Given the description of an element on the screen output the (x, y) to click on. 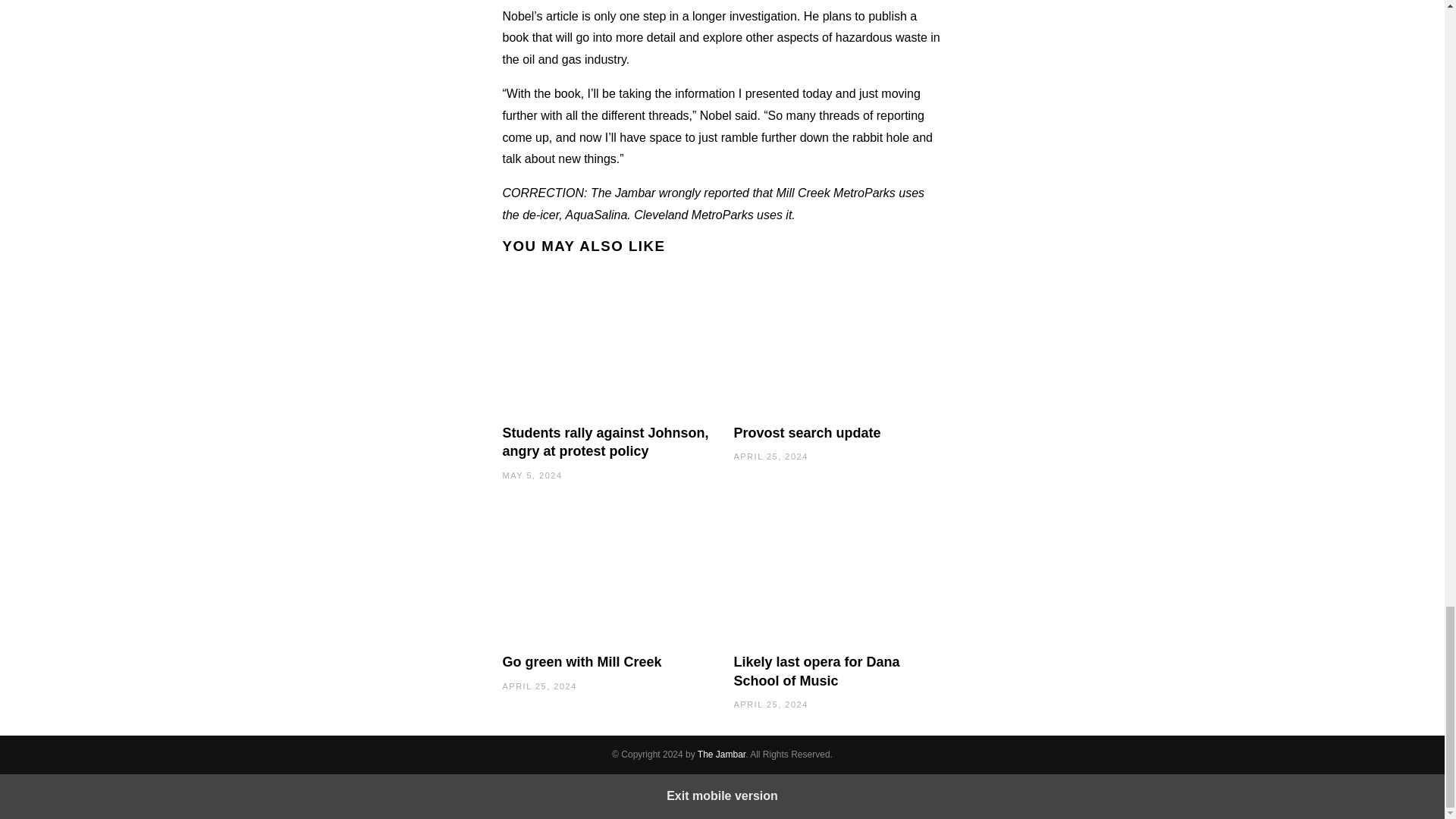
Go green with Mill Creek (581, 661)
Likely last opera for Dana School of Music (816, 670)
The Jambar (721, 754)
Students rally against Johnson, angry at protest policy (604, 441)
Provost search update (806, 432)
